Given the description of an element on the screen output the (x, y) to click on. 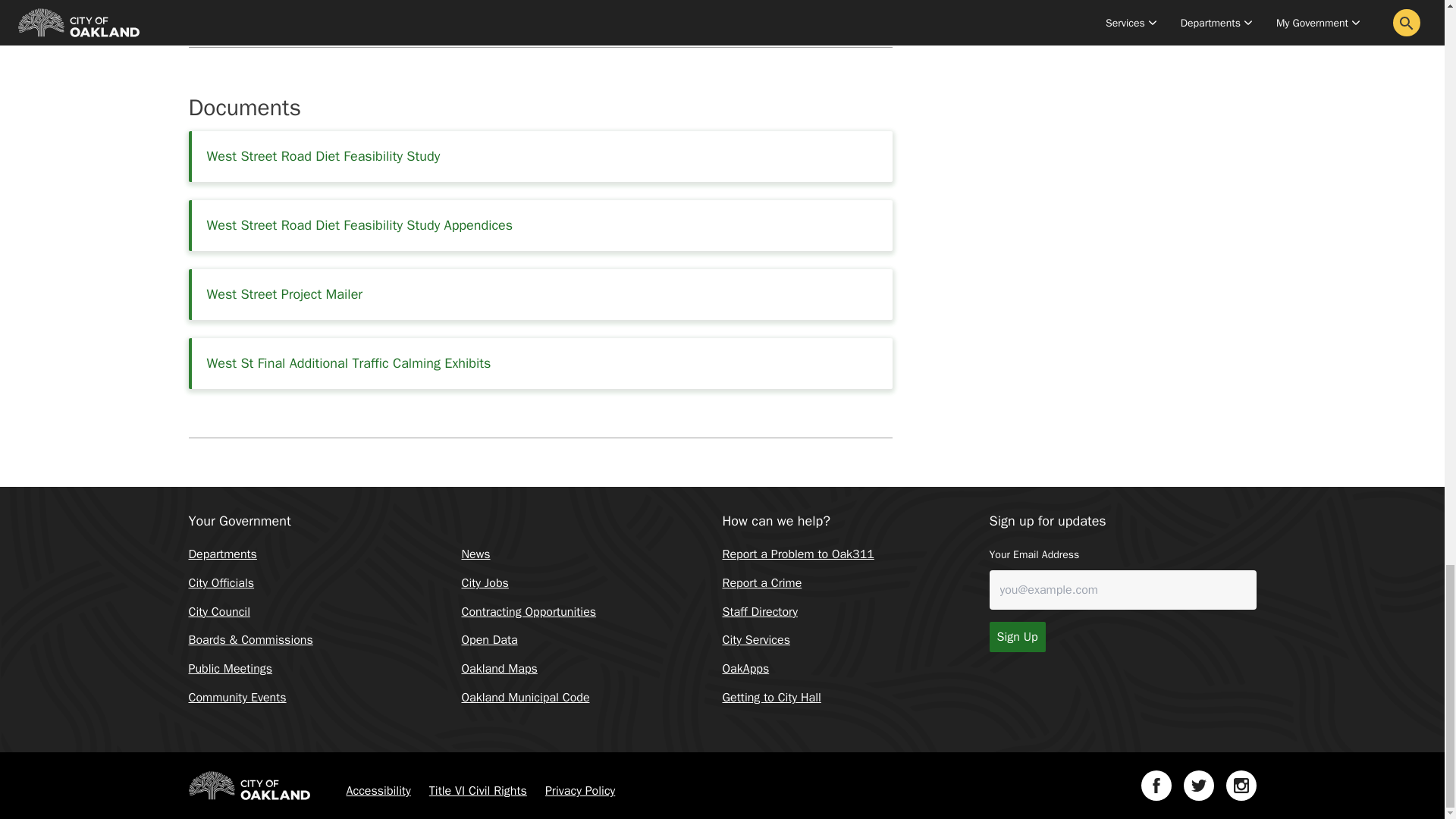
Sign Up (1016, 636)
